Given the description of an element on the screen output the (x, y) to click on. 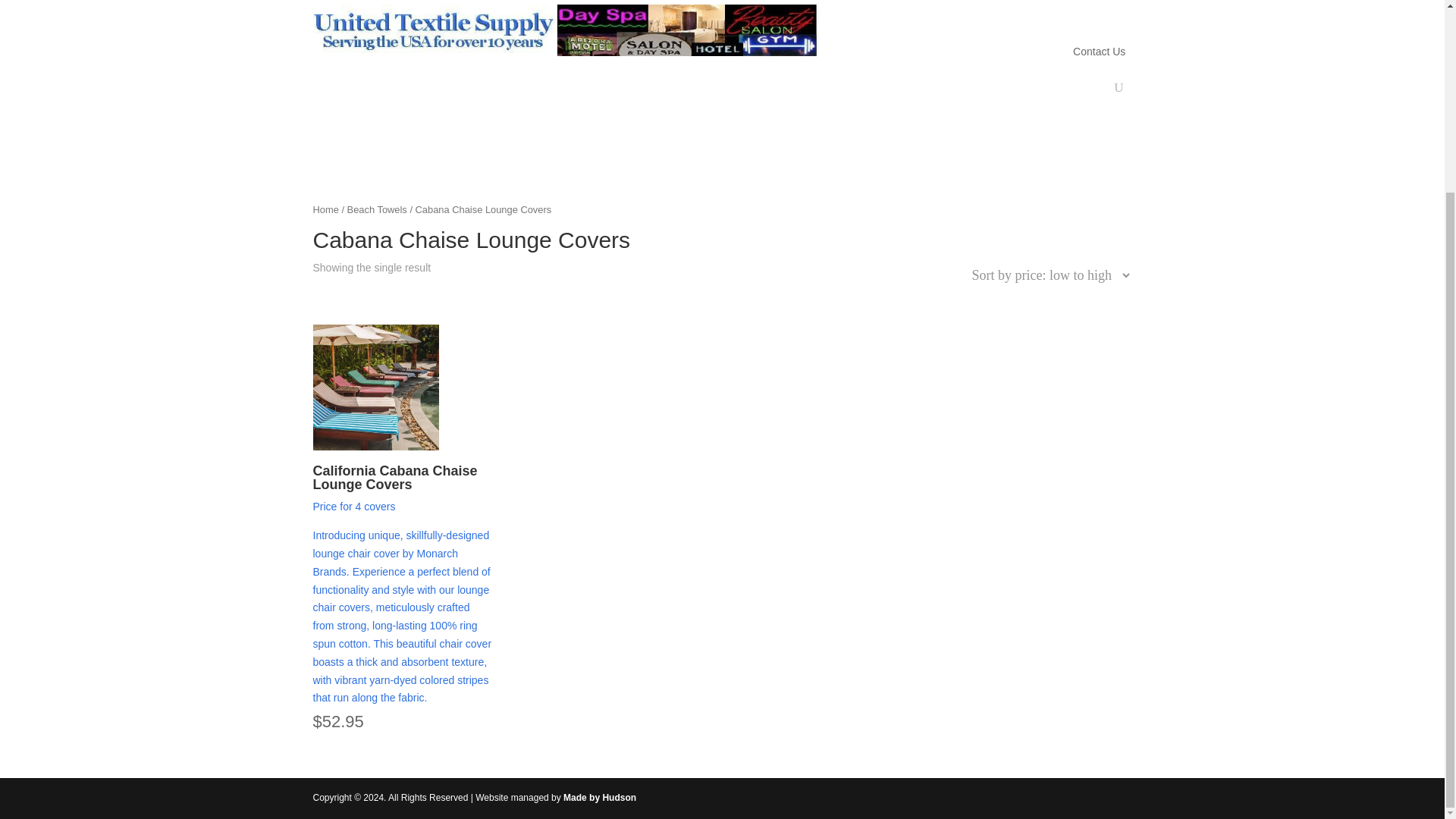
Beach Towels (377, 209)
Home (901, 11)
Made by Hudson (599, 797)
Home (325, 209)
About Us (967, 11)
Contact Us (1099, 51)
